Given the description of an element on the screen output the (x, y) to click on. 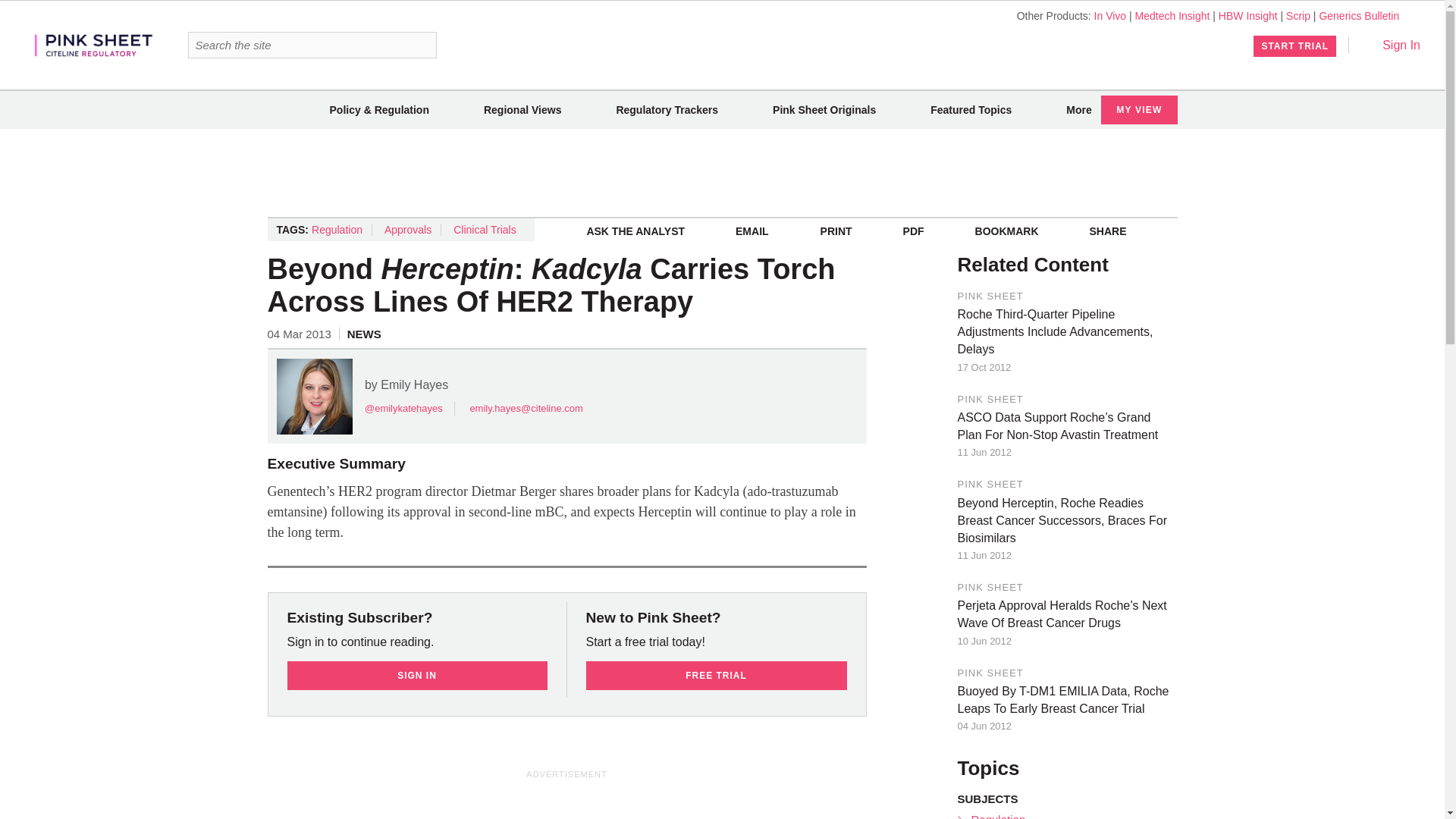
HBW Insight (1248, 15)
Sign In (1391, 44)
START TRIAL (1294, 46)
In Vivo (1110, 15)
3rd party ad content (721, 172)
3rd party ad content (567, 800)
Generics Bulletin (1359, 15)
Scrip (1297, 15)
Medtech Insight (1172, 15)
